Given the description of an element on the screen output the (x, y) to click on. 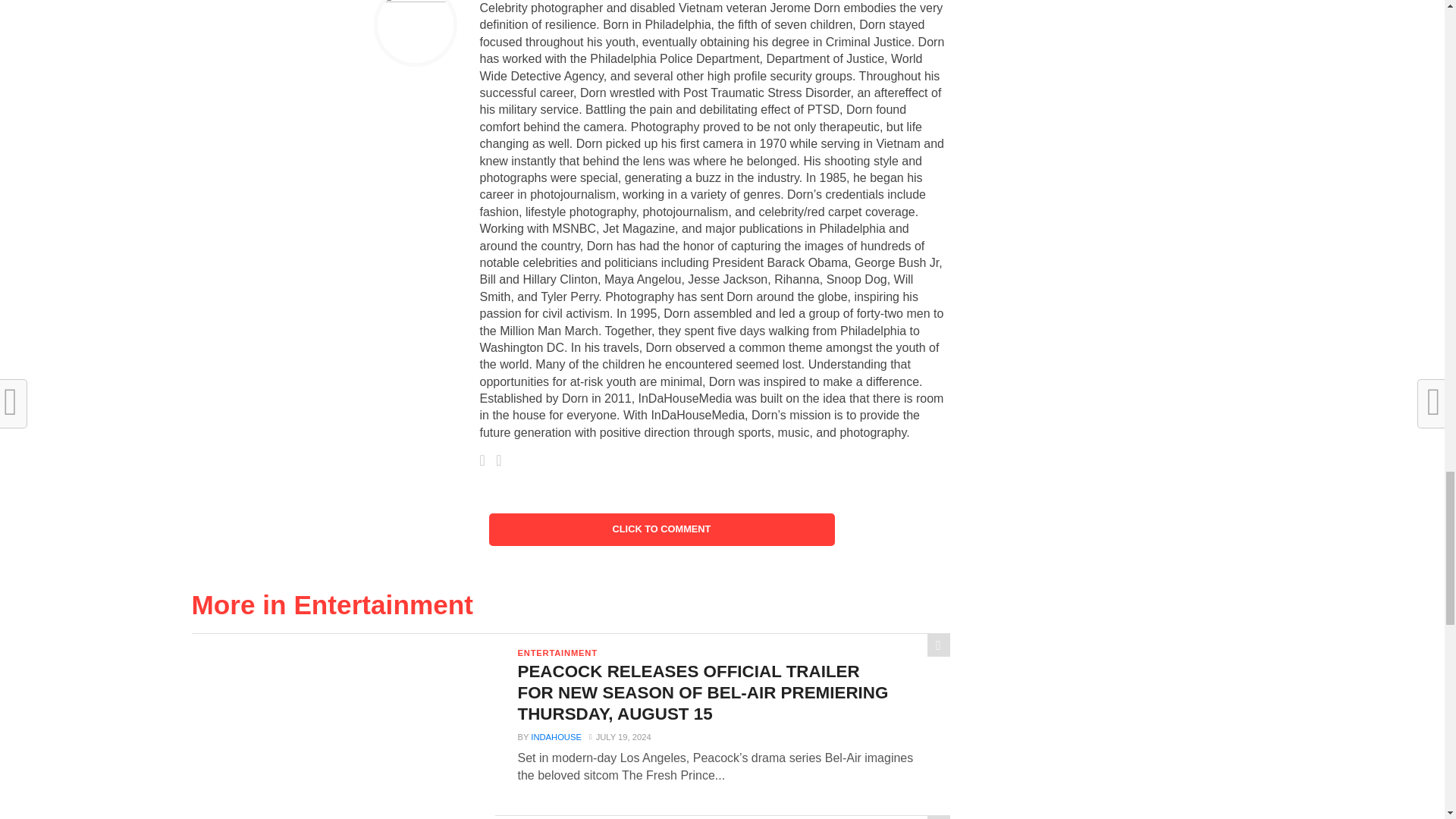
Posts by InDaHouse (555, 737)
